Given the description of an element on the screen output the (x, y) to click on. 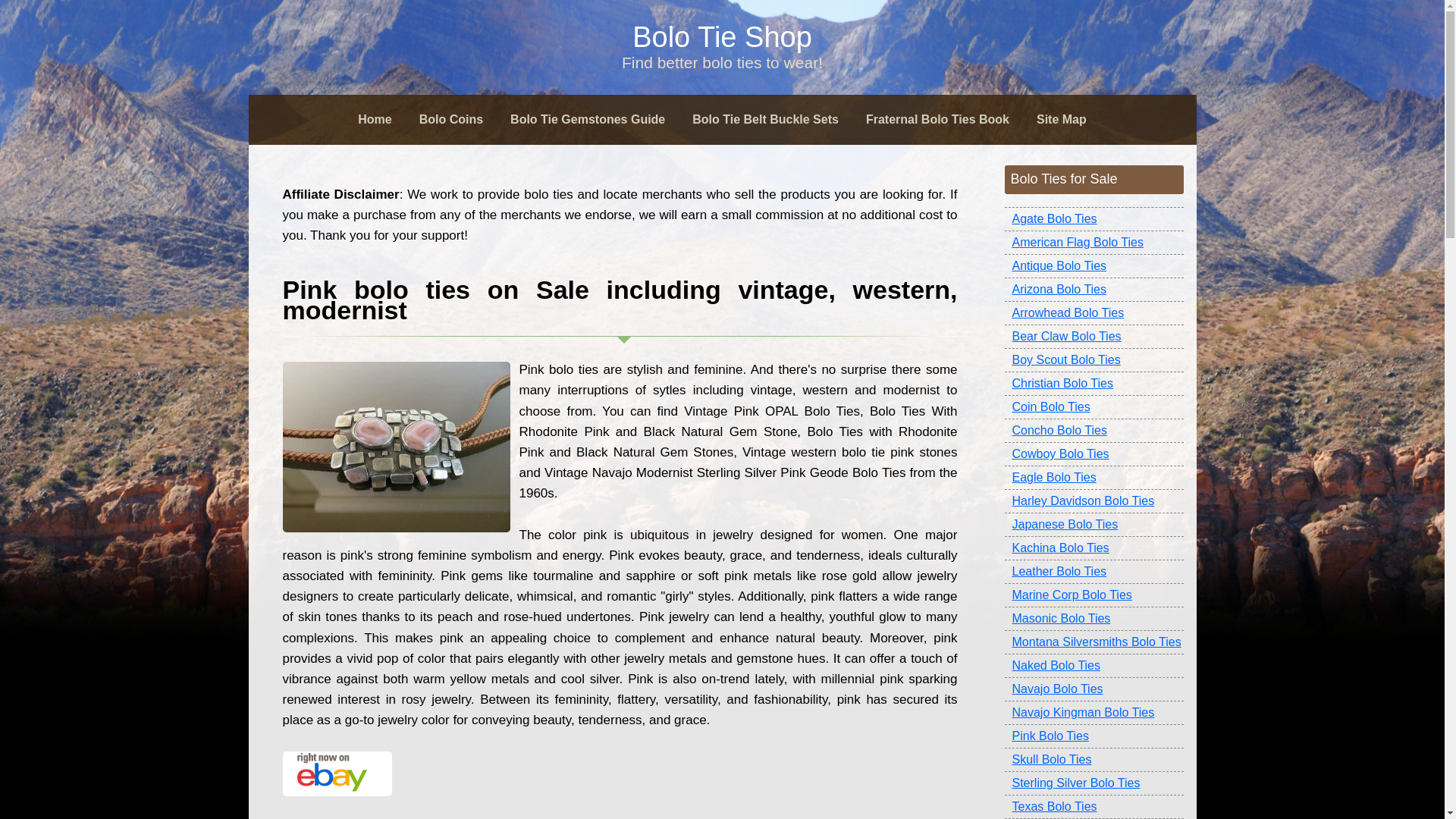
Bolo Tie Shop (721, 37)
Cowboy Bolo Ties (1093, 454)
Bear Claw Bolo Ties (1093, 336)
American Flag Bolo Ties (1093, 242)
Christian Bolo Ties (1093, 383)
Eagle Bolo Ties (1093, 477)
Home (373, 119)
Bolo Tie Gemstones Guide (587, 119)
Concho Bolo Ties (1093, 431)
Coin Bolo Ties (1093, 407)
